Given the description of an element on the screen output the (x, y) to click on. 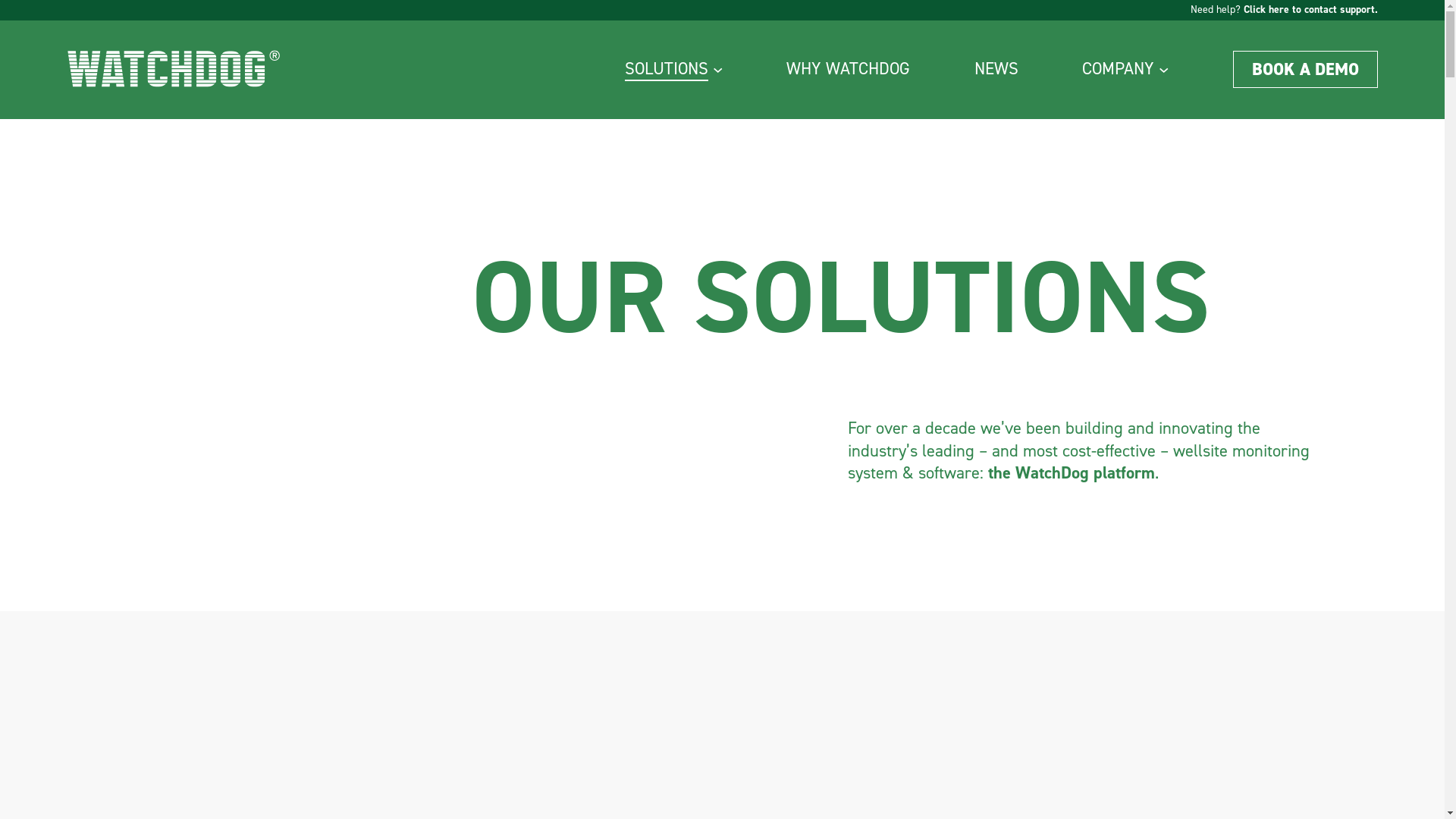
WHY WATCHDOG Element type: text (848, 69)
NEWS Element type: text (996, 69)
Click here to contact support. Element type: text (1310, 9)
COMPANY Element type: text (1118, 69)
BOOK A DEMO Element type: text (1305, 68)
SOLUTIONS Element type: text (666, 69)
